Given the description of an element on the screen output the (x, y) to click on. 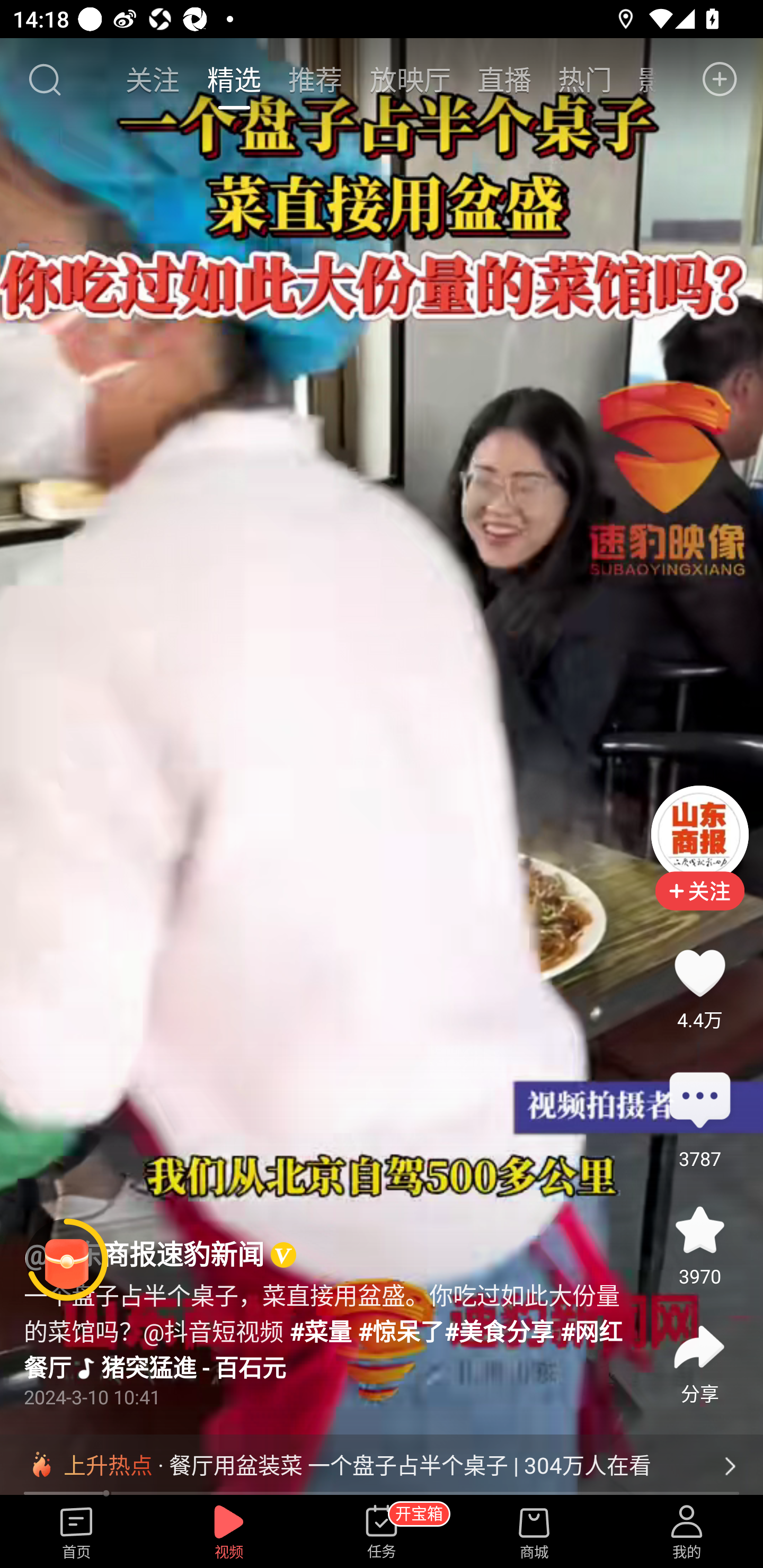
关注 (153, 79)
精选 (233, 79)
推荐 (315, 79)
放映厅 (409, 79)
直播 (504, 79)
热门 (584, 79)
搜索 (44, 79)
发布 (720, 79)
头像 (699, 833)
点赞44753 4.4万 (699, 972)
评论3787 评论 3787 (699, 1101)
收藏 3970 (699, 1229)
阅读赚金币 (66, 1259)
@山东商报速豹新闻 (143, 1255)
分享 (699, 1347)
上升热点  · 餐厅用盆装菜 一个盘子占半个桌子  | 304万人在看 (381, 1465)
首页 (76, 1532)
视频 (228, 1532)
任务 开宝箱 (381, 1532)
商城 (533, 1532)
我的 (686, 1532)
